Given the description of an element on the screen output the (x, y) to click on. 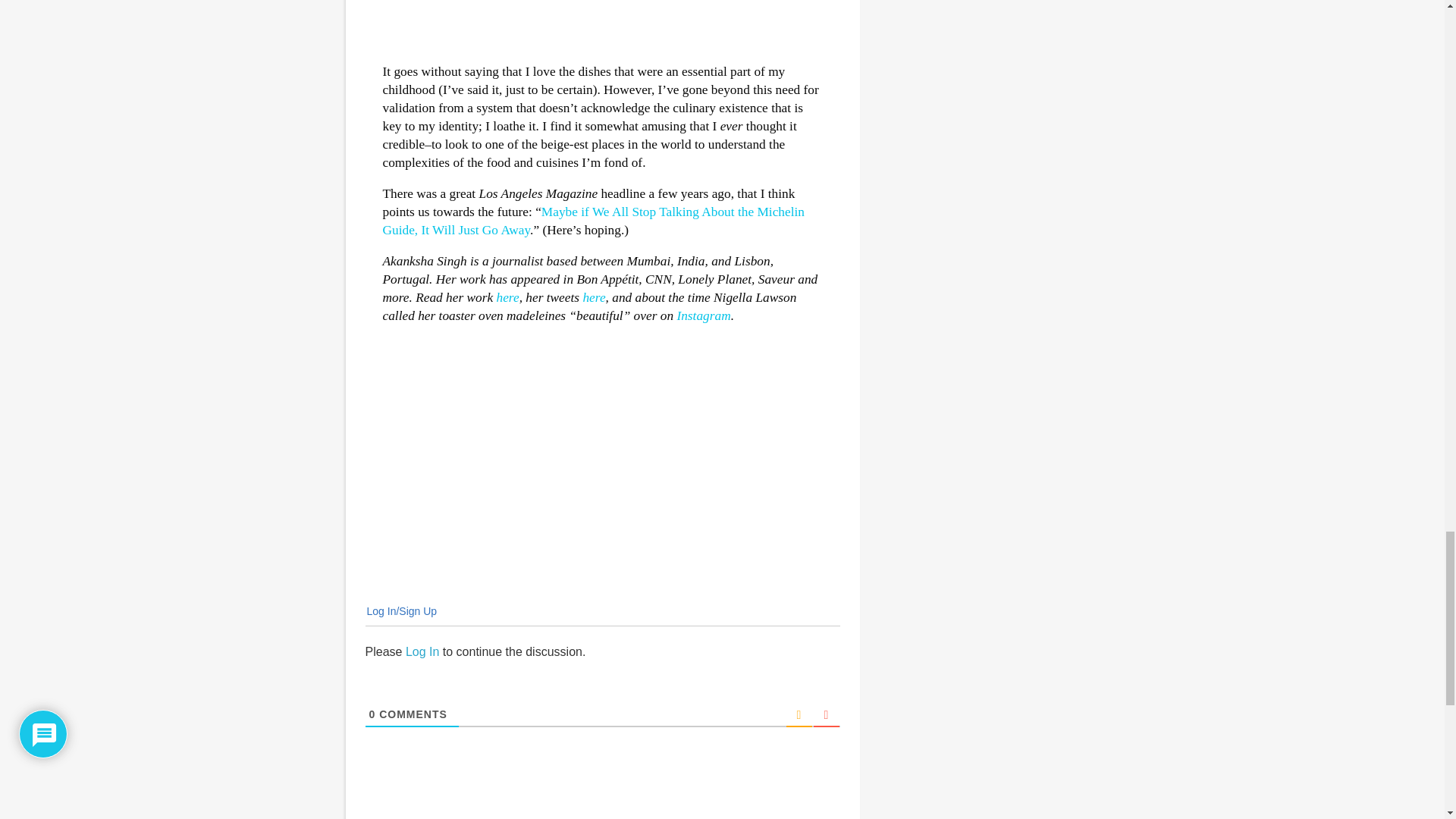
0 (371, 714)
